Given the description of an element on the screen output the (x, y) to click on. 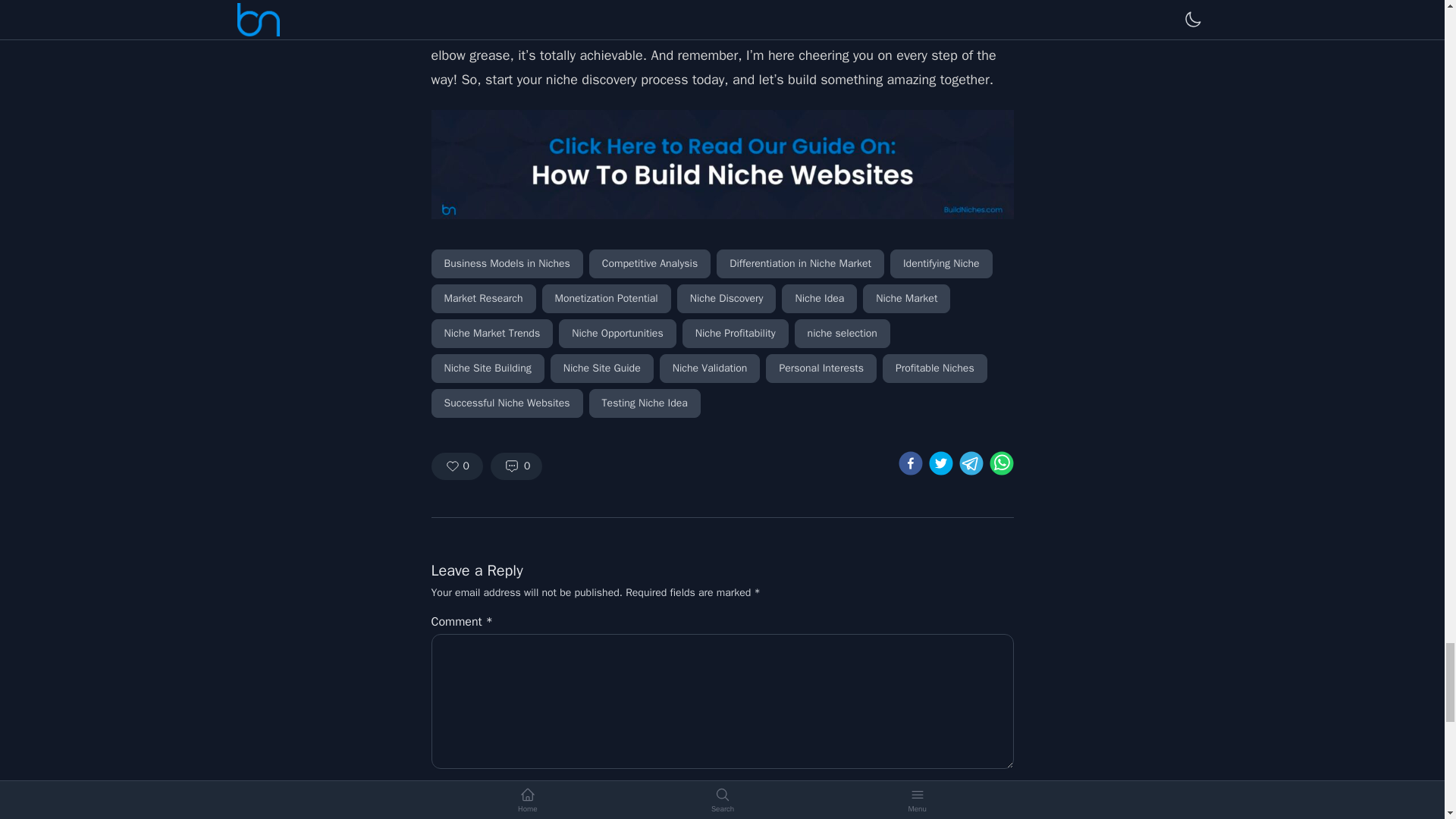
Business Models in Niches (506, 263)
Competitive Analysis (649, 263)
Differentiation in Niche Market (799, 263)
